Given the description of an element on the screen output the (x, y) to click on. 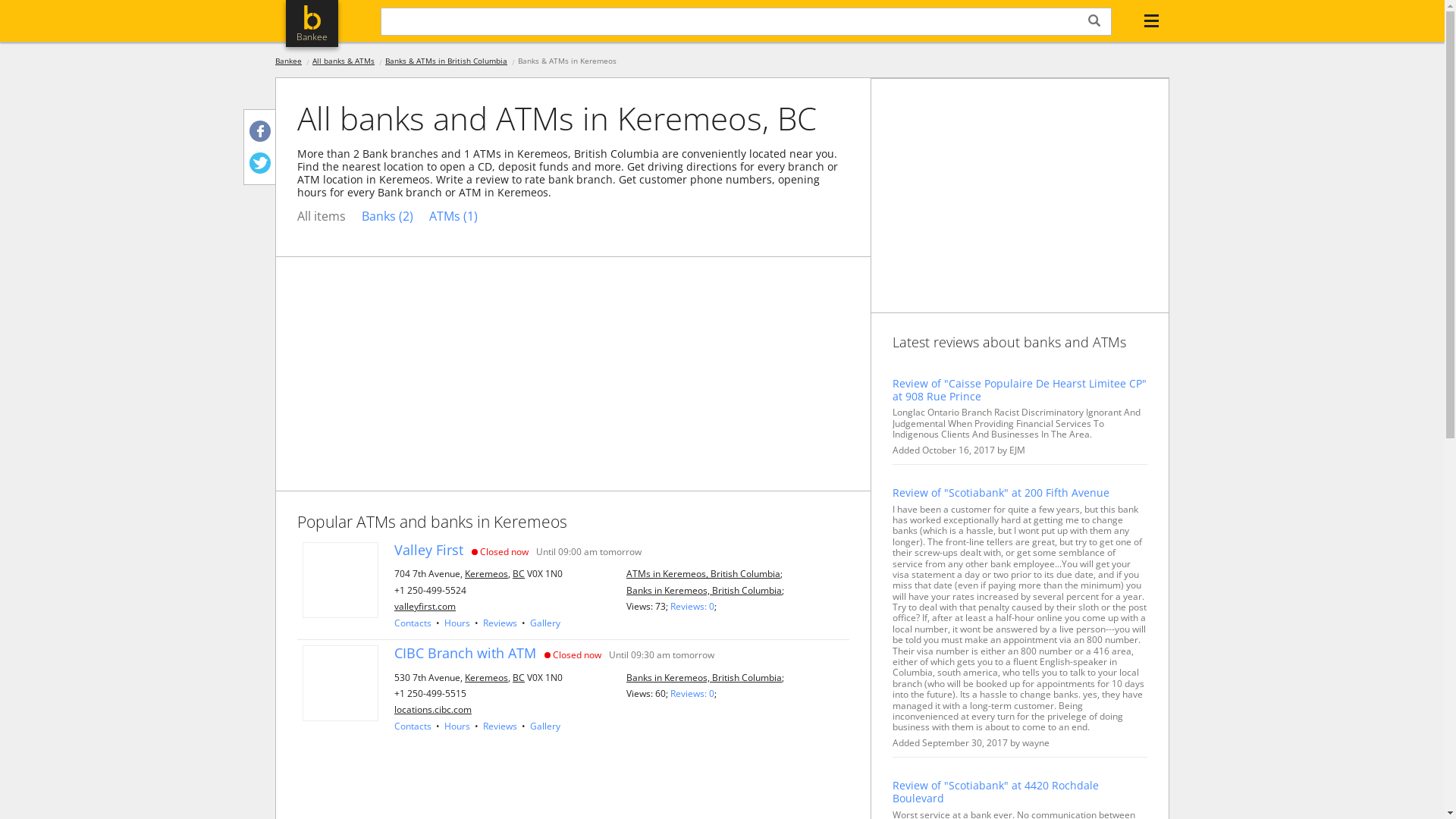
Reviews Element type: text (500, 622)
Banks & ATMs in British Columbia Element type: text (446, 60)
BC Element type: text (518, 676)
Advertisement Element type: hover (573, 373)
Gallery Element type: text (545, 622)
Valley First Element type: text (428, 550)
Bankee Element type: text (288, 60)
All items Element type: text (321, 216)
Advertisement Element type: hover (1019, 195)
Keremeos Element type: text (486, 573)
Reviews Element type: text (500, 725)
Banks in Keremeos, British Columbia Element type: text (703, 676)
Gallery Element type: text (545, 725)
Hours Element type: text (457, 622)
Hours Element type: text (457, 725)
Banks in Keremeos, British Columbia Element type: text (703, 589)
All banks & ATMs Element type: text (343, 60)
Keremeos Element type: text (486, 676)
ATMs in Keremeos, British Columbia Element type: text (703, 573)
valleyfirst.com Element type: text (424, 605)
locations.cibc.com Element type: text (432, 708)
Reviews: 0 Element type: text (692, 605)
Contacts Element type: text (412, 725)
Review of "Scotiabank" at 200 Fifth Avenue Element type: text (1019, 492)
Review of "Scotiabank" at 4420 Rochdale Boulevard Element type: text (1019, 792)
CIBC Branch with ATM Element type: text (465, 653)
BC Element type: text (518, 573)
Reviews: 0 Element type: text (692, 693)
ATMs (1) Element type: text (453, 216)
Banks (2) Element type: text (387, 216)
Bankee Element type: text (311, 23)
Contacts Element type: text (412, 622)
